Given the description of an element on the screen output the (x, y) to click on. 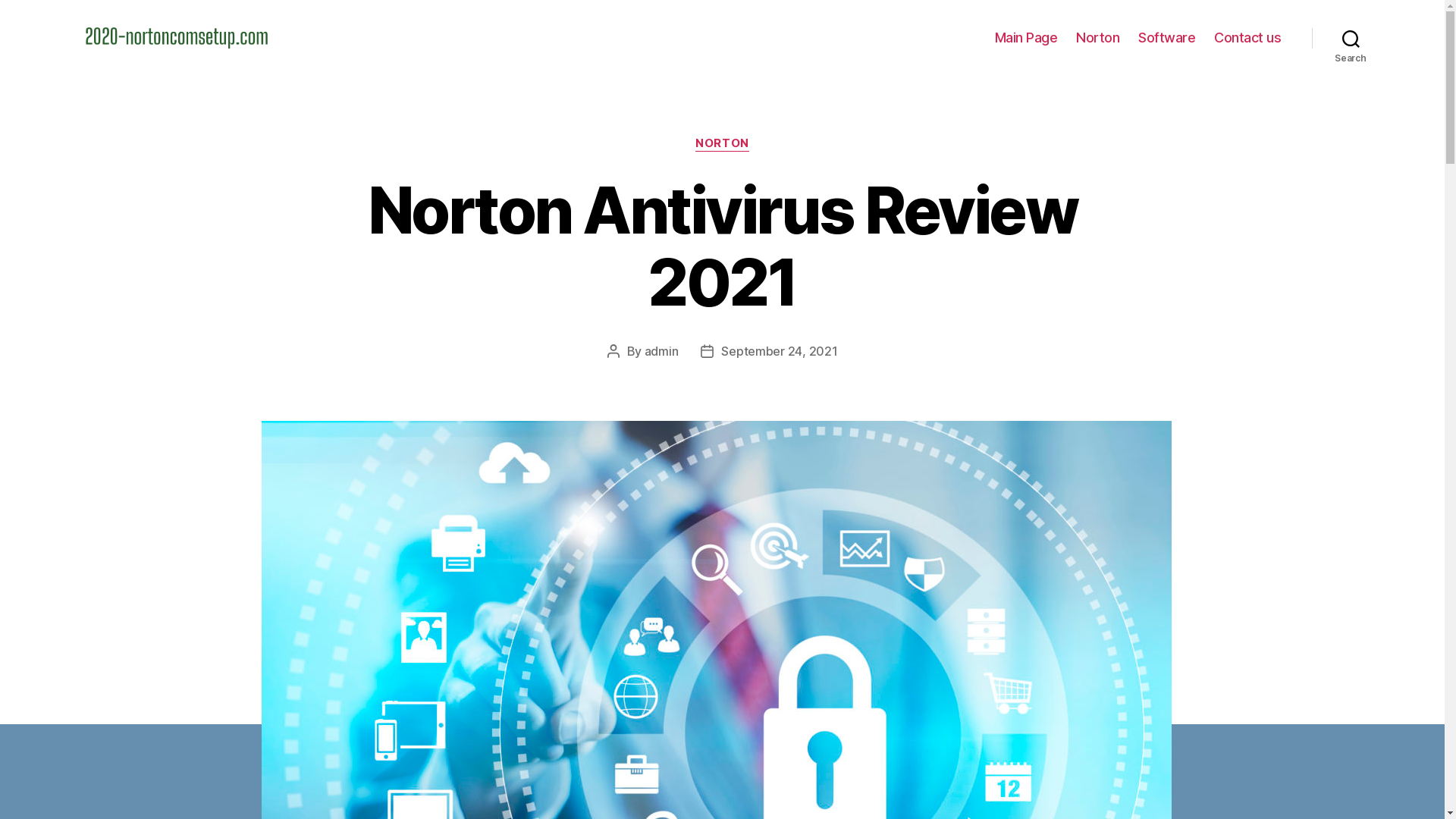
NORTON Element type: text (721, 143)
admin Element type: text (661, 350)
Norton Element type: text (1097, 37)
Contact us Element type: text (1247, 37)
Main Page Element type: text (1025, 37)
Search Element type: text (1350, 37)
Software Element type: text (1166, 37)
September 24, 2021 Element type: text (779, 350)
